Given the description of an element on the screen output the (x, y) to click on. 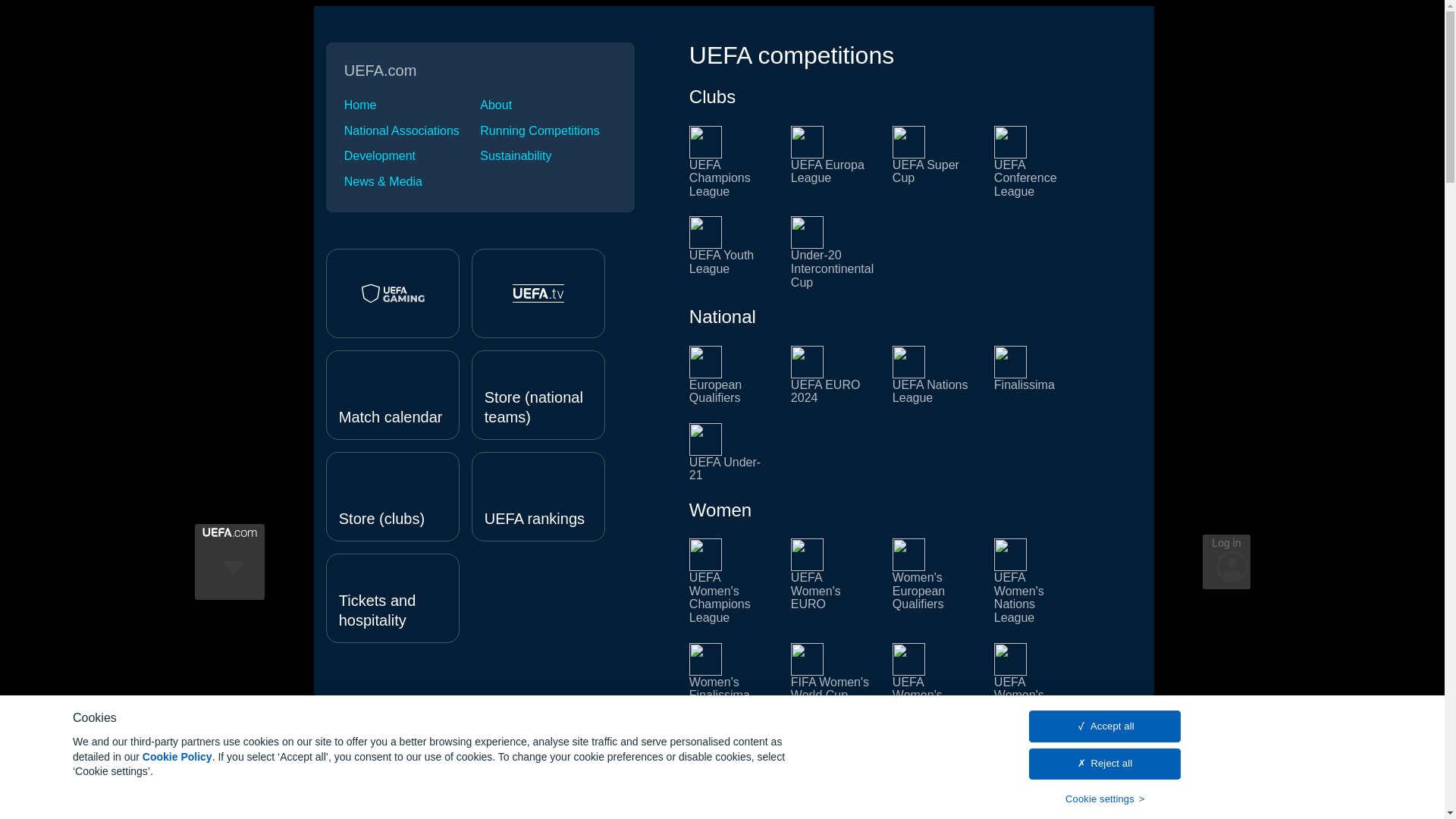
Development (411, 155)
Sustainability (547, 155)
European Qualifiers (730, 374)
Running Competitions (547, 131)
UEFA Nations League (933, 374)
UEFA Under-19 (730, 795)
UEFA Women's EURO (832, 581)
Women's Finalissima (730, 678)
Match calendar (393, 394)
UEFA rankings (538, 496)
